Given the description of an element on the screen output the (x, y) to click on. 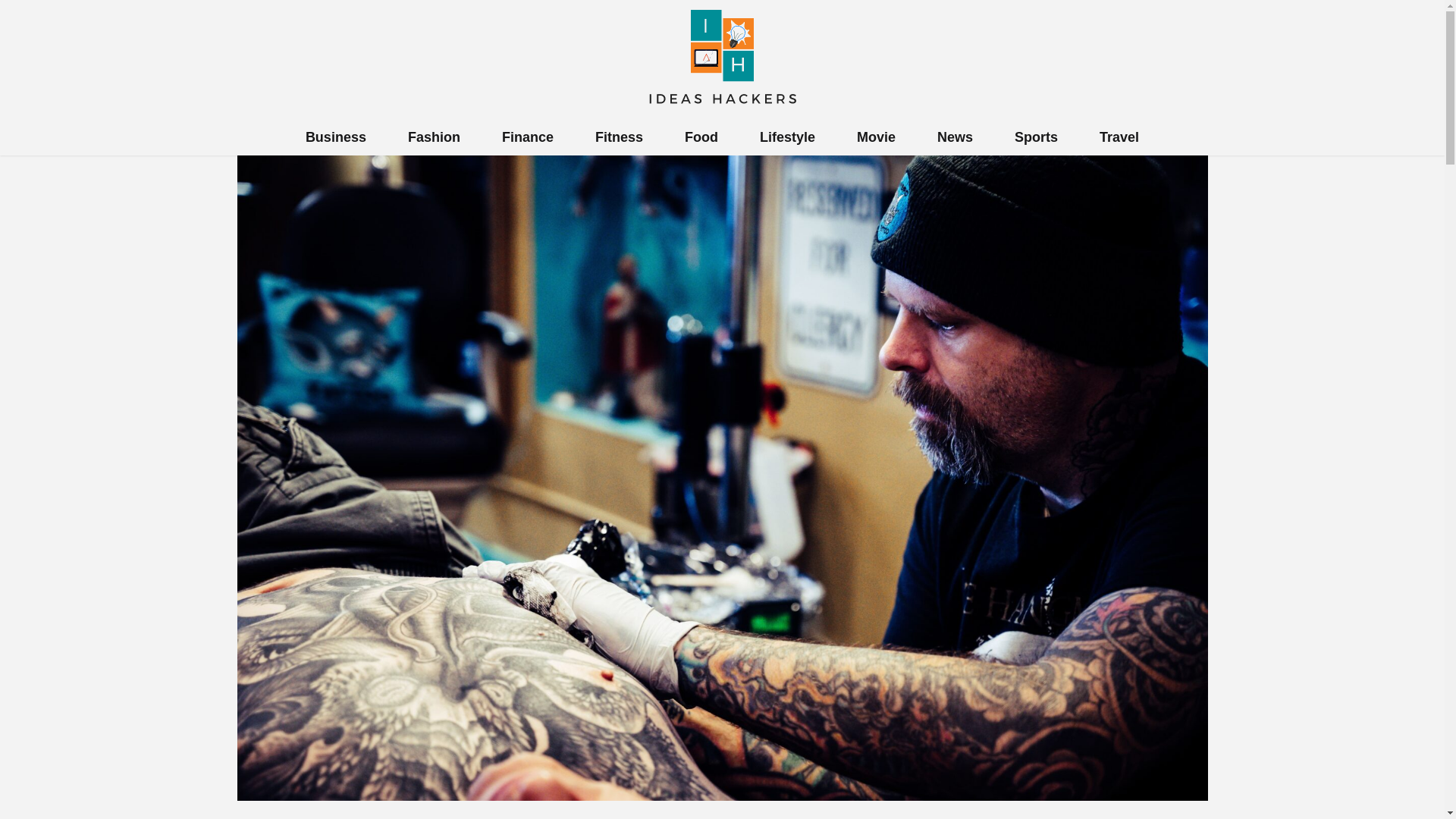
Business (335, 136)
Movie (876, 136)
Travel (1118, 136)
Finance (527, 136)
News (954, 136)
Lifestyle (787, 136)
Fashion (433, 136)
Food (700, 136)
Fitness (619, 136)
Sports (1036, 136)
